Given the description of an element on the screen output the (x, y) to click on. 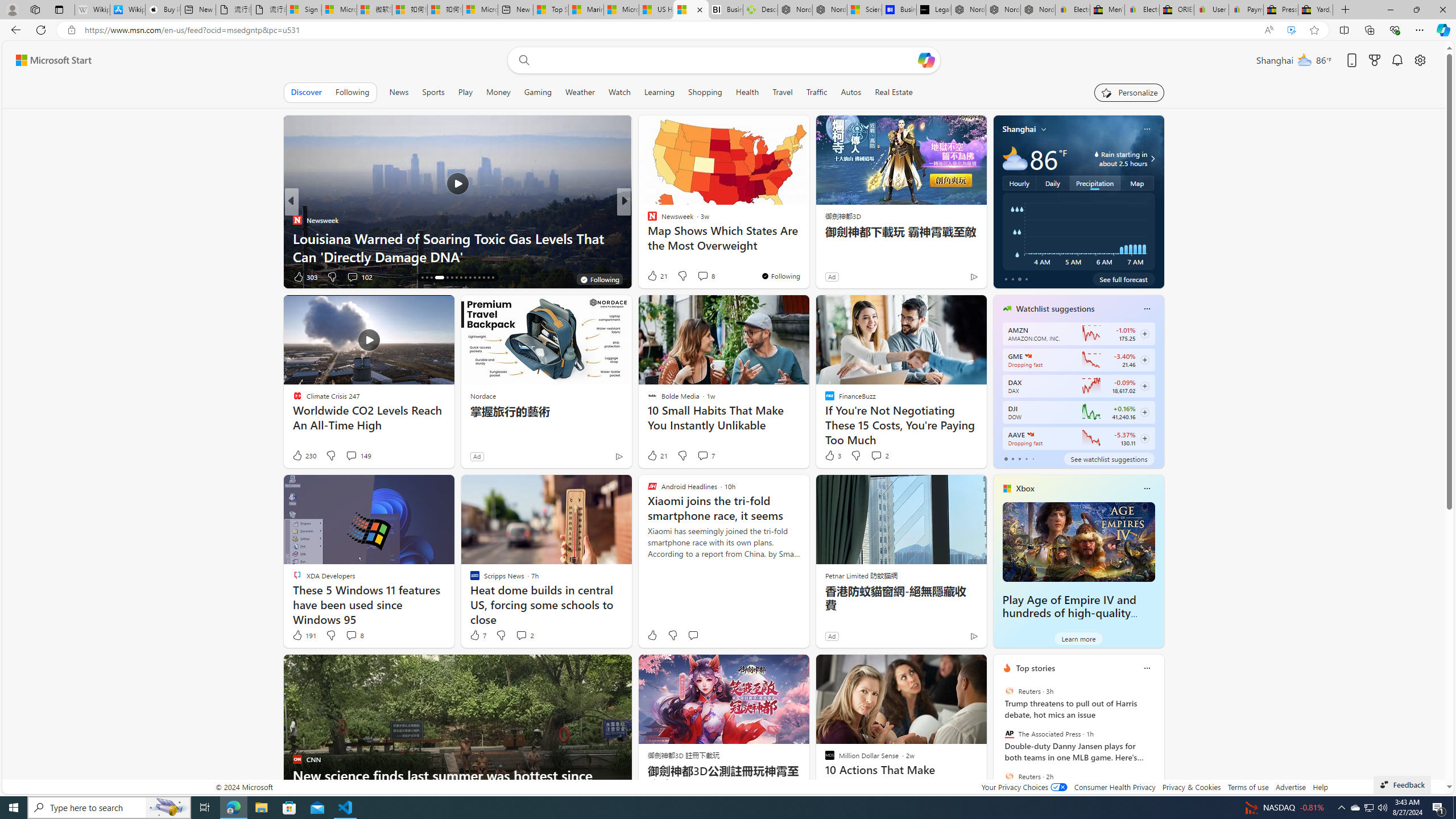
Newsweek (296, 219)
7 Like (477, 634)
The Associated Press (1008, 733)
MSNBC (647, 219)
Windows Central (647, 219)
Awful Funny US (647, 238)
14 Funny Ways People Try to Save Money (807, 256)
